Given the description of an element on the screen output the (x, y) to click on. 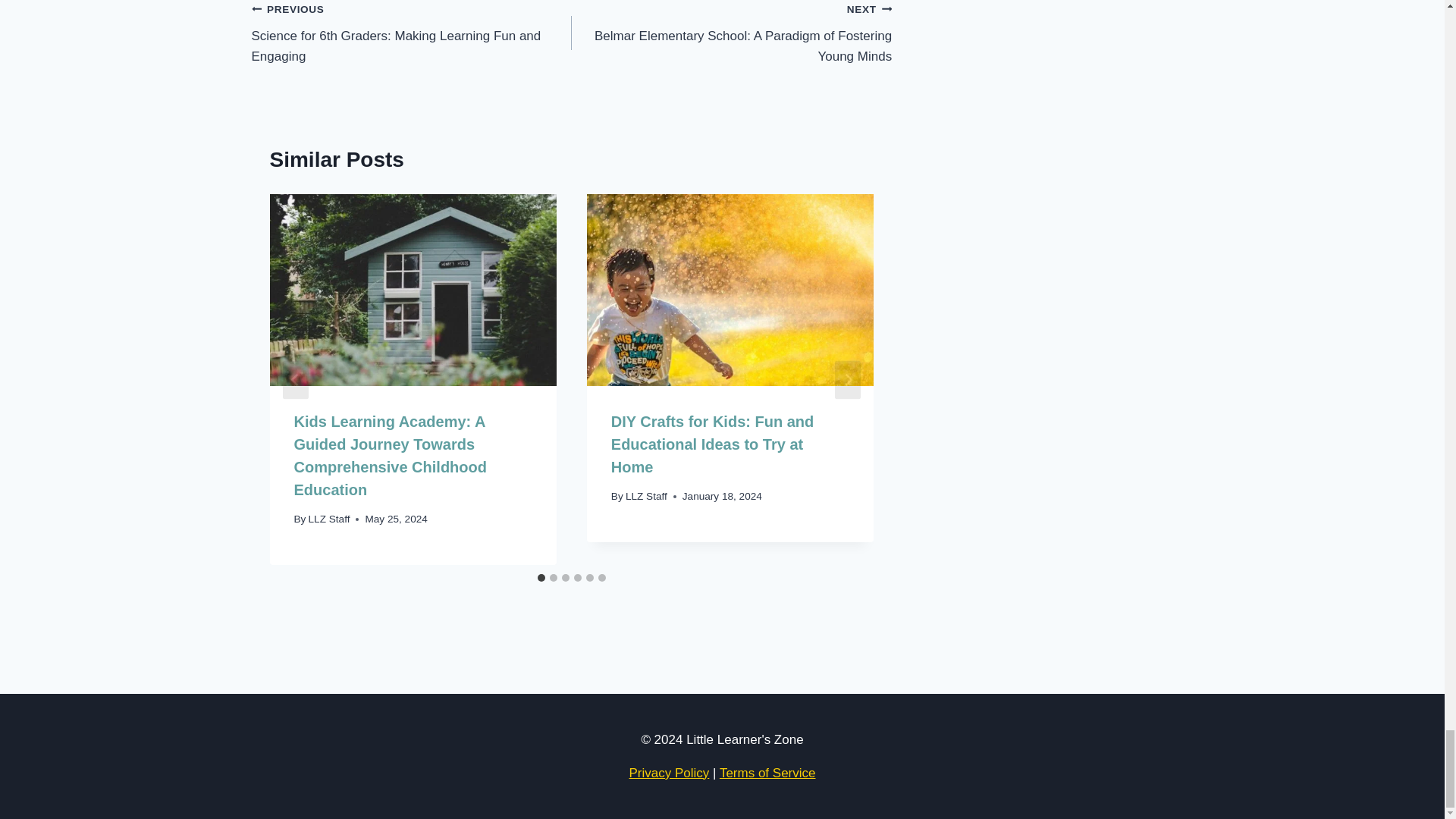
LLZ Staff (646, 496)
LLZ Staff (329, 518)
